Given the description of an element on the screen output the (x, y) to click on. 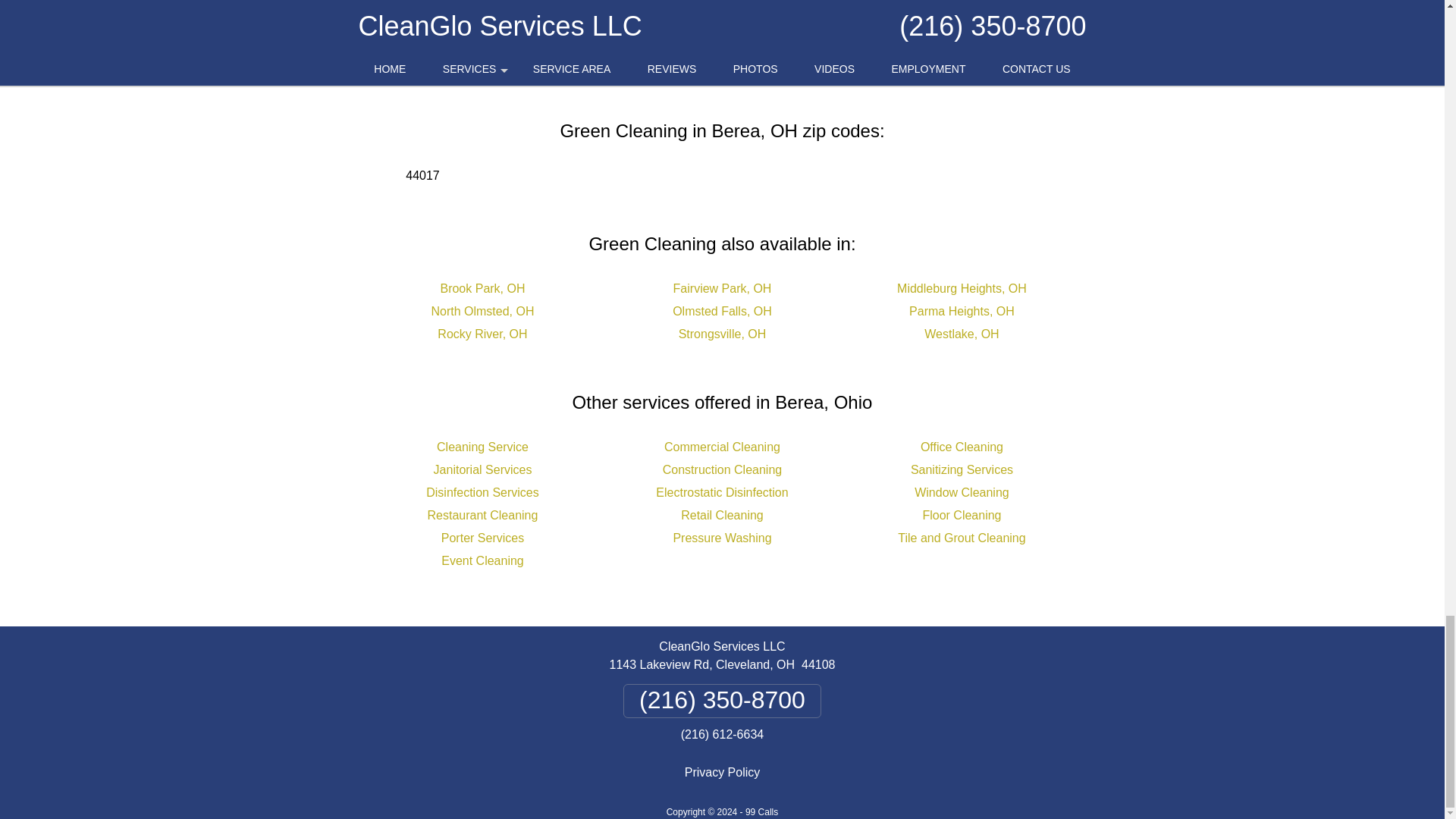
Google (713, 36)
Fairview Park, OH (721, 287)
Houzz (832, 36)
North Olmsted, OH (482, 310)
Yelp (773, 36)
Middleburg Heights, OH (961, 287)
Facebook (634, 36)
Brook Park, OH (481, 287)
